Given the description of an element on the screen output the (x, y) to click on. 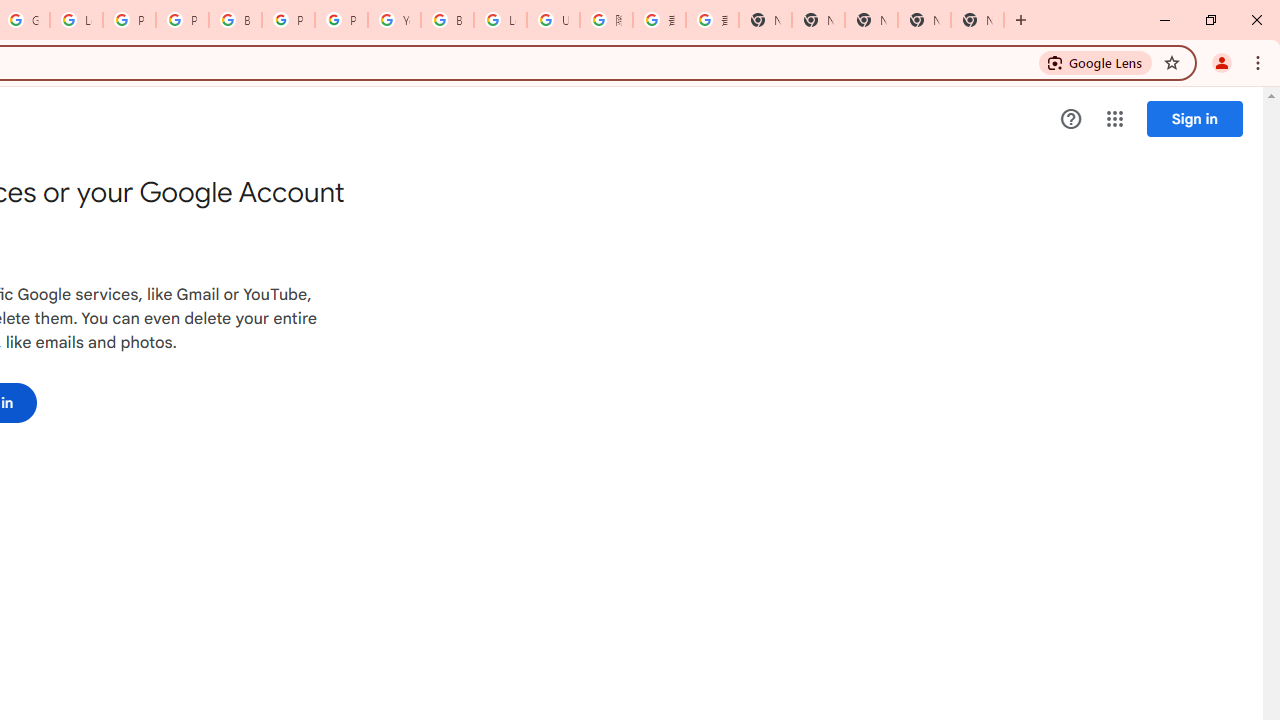
Privacy Help Center - Policies Help (129, 20)
Browse Chrome as a guest - Computer - Google Chrome Help (447, 20)
Search with Google Lens (1095, 62)
Help (1071, 119)
New Tab (977, 20)
